Given the description of an element on the screen output the (x, y) to click on. 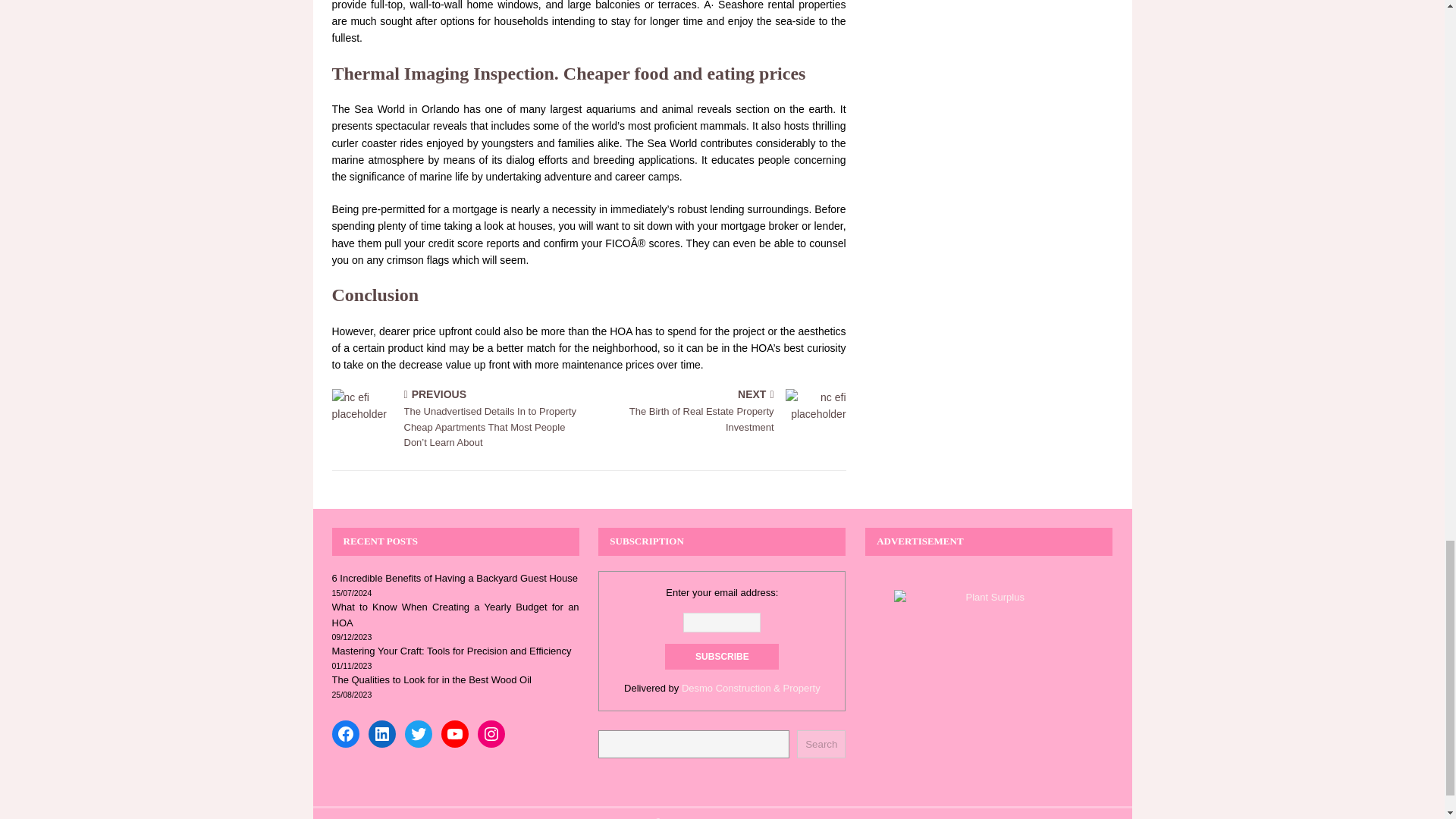
The Birth of Real Estate Property Investment (815, 411)
Subscribe (720, 412)
